Given the description of an element on the screen output the (x, y) to click on. 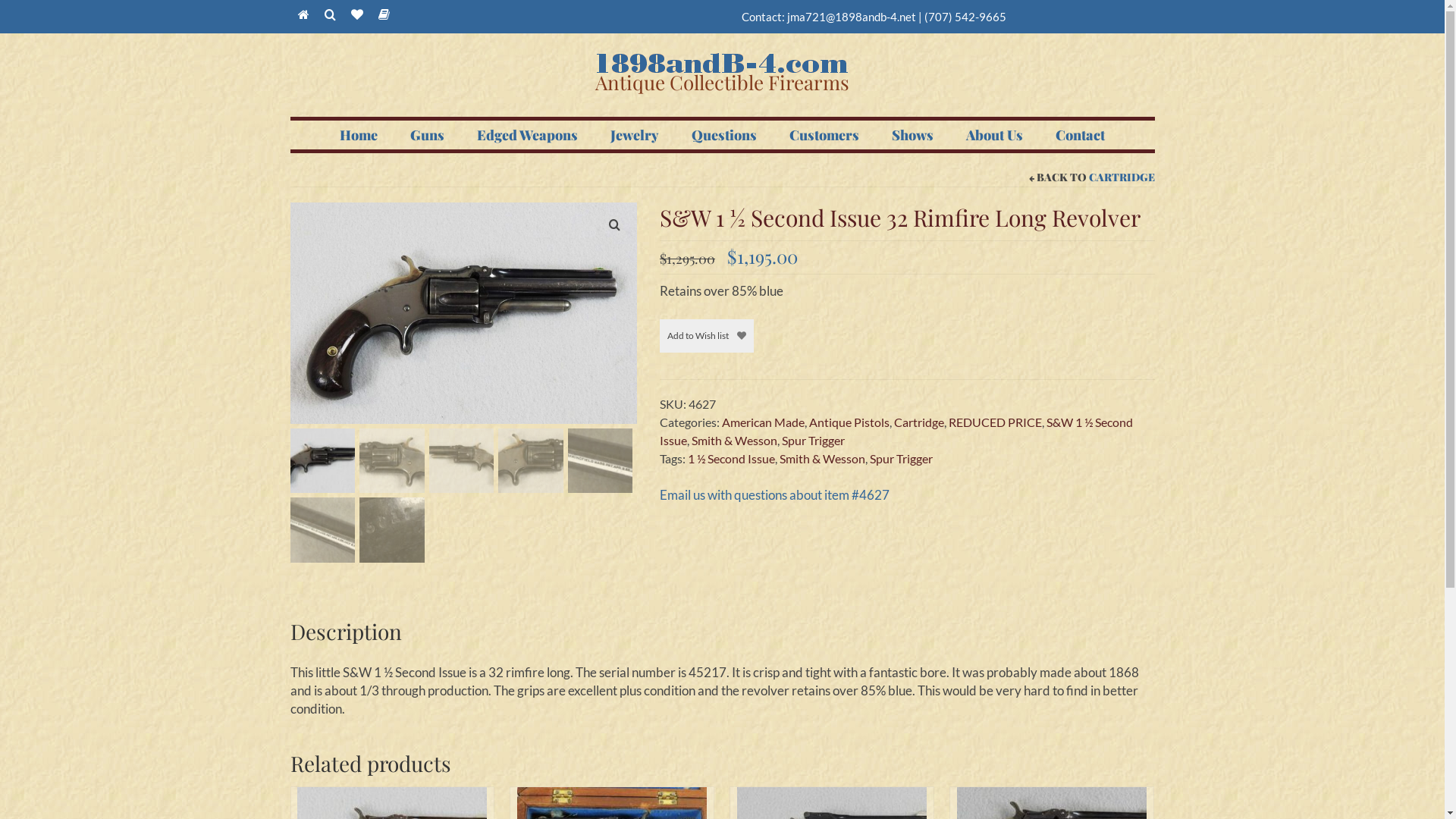
Edged Weapons Element type: text (527, 134)
REDUCED PRICE Element type: text (994, 421)
Cartridge Element type: text (919, 421)
Shows Element type: text (912, 134)
Email us with questions about item #4627 Element type: text (774, 494)
Home Element type: text (358, 134)
About Us Element type: text (994, 134)
Questions Element type: text (723, 134)
Guns Element type: text (427, 134)
(707) 542-9665 Element type: text (964, 16)
Spur Trigger Element type: text (812, 440)
Customers Element type: text (824, 134)
jma721@1898andb-4.net Element type: text (851, 16)
Smith & Wesson Element type: text (734, 440)
American Made Element type: text (762, 421)
CARTRIDGE Element type: text (1121, 176)
Spur Trigger Element type: text (900, 458)
Add to Wish list Element type: text (706, 335)
Contact Element type: text (1080, 134)
Antique Pistols Element type: text (849, 421)
Smith & Wesson Element type: text (822, 458)
Jewelry Element type: text (634, 134)
